Given the description of an element on the screen output the (x, y) to click on. 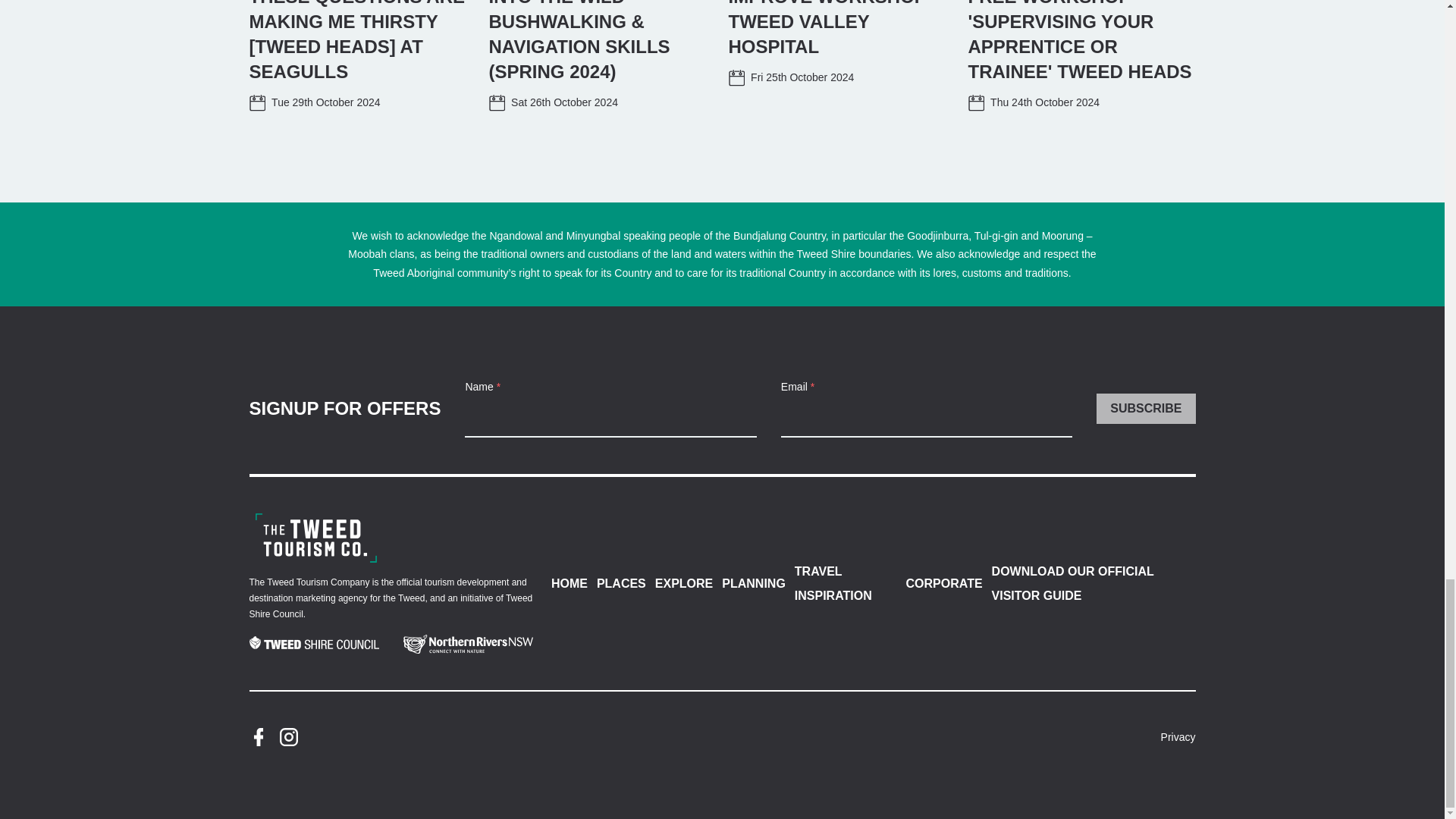
Tweed Shire Council (313, 644)
Northern Rivers NSW (467, 643)
Corporate (314, 537)
